Given the description of an element on the screen output the (x, y) to click on. 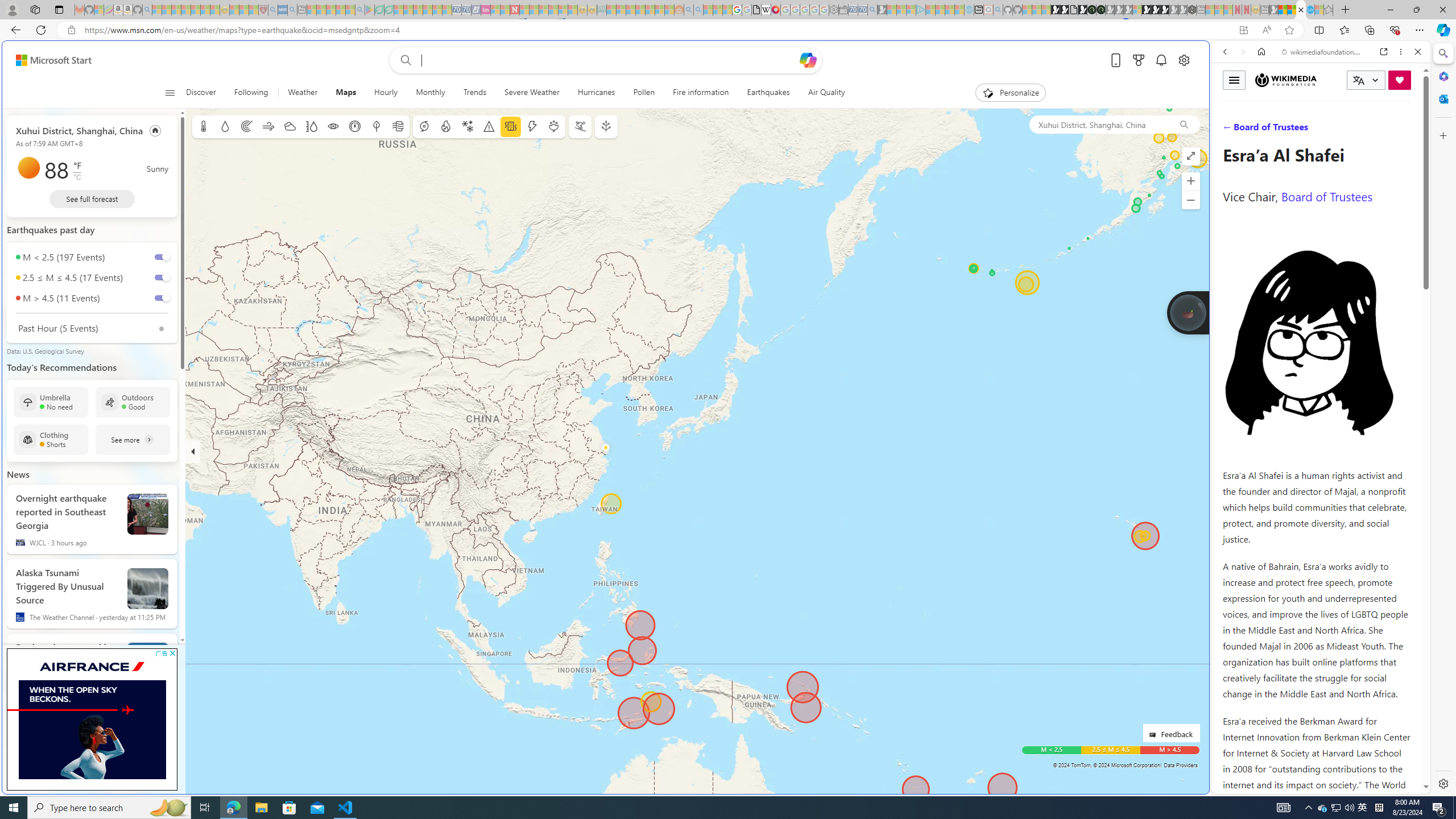
Trusted Community Engagement and Contributions | Guidelines (524, 9)
Donate now (1399, 80)
To get missing image descriptions, open the context menu. (151, 710)
Class: feedback_link_icon-DS-EntryPoint1-1 (1154, 734)
App available. Install Microsoft Start Weather (1243, 29)
MSN (1118, 536)
Toggle menu (1233, 80)
Lightning (532, 126)
Sea level pressure (355, 126)
DITOGAMES AG Imprint - Sleeping (601, 9)
14 Common Myths Debunked By Scientific Facts - Sleeping (533, 9)
